Given the description of an element on the screen output the (x, y) to click on. 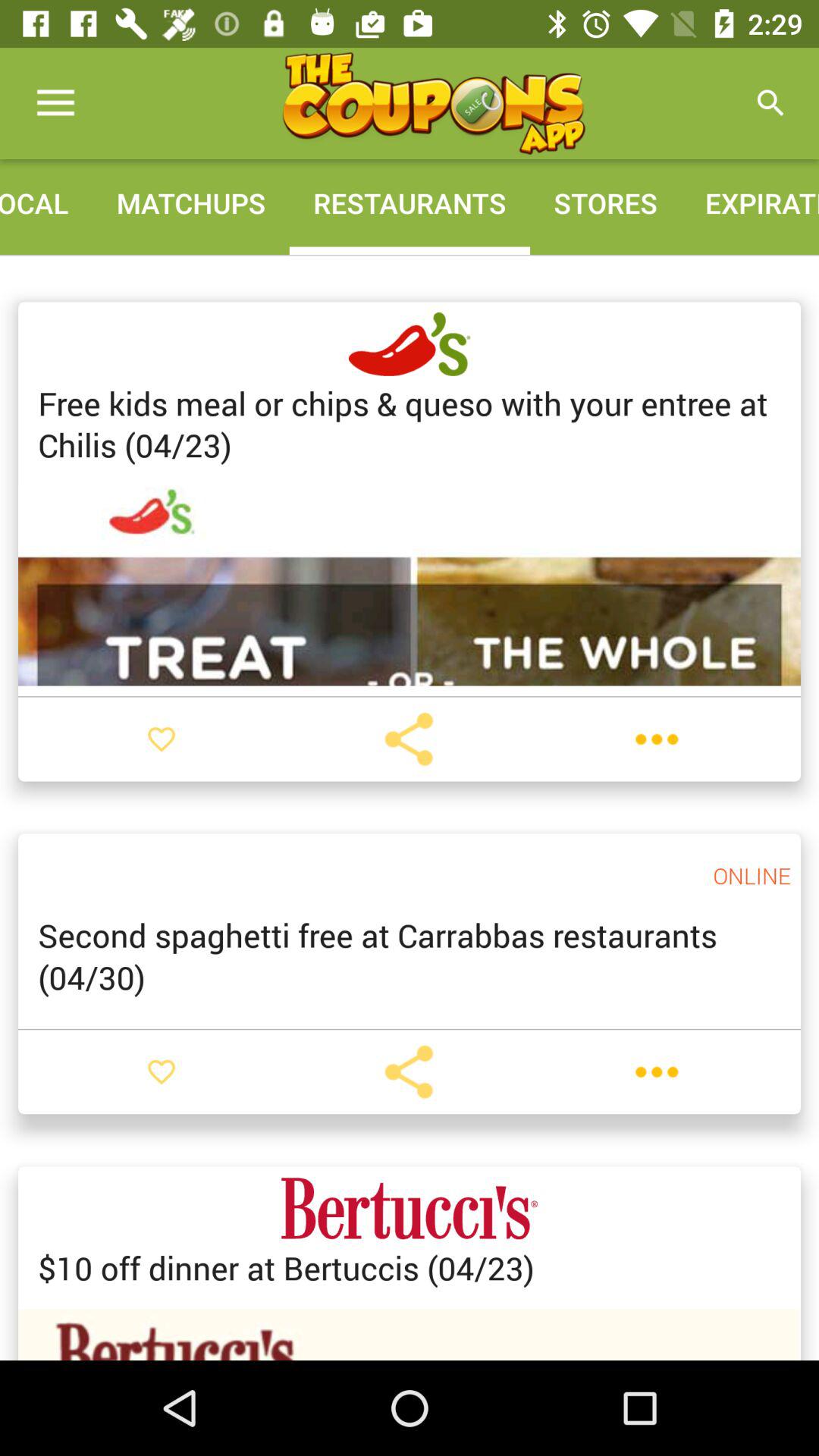
see options and details for coupon (656, 739)
